Given the description of an element on the screen output the (x, y) to click on. 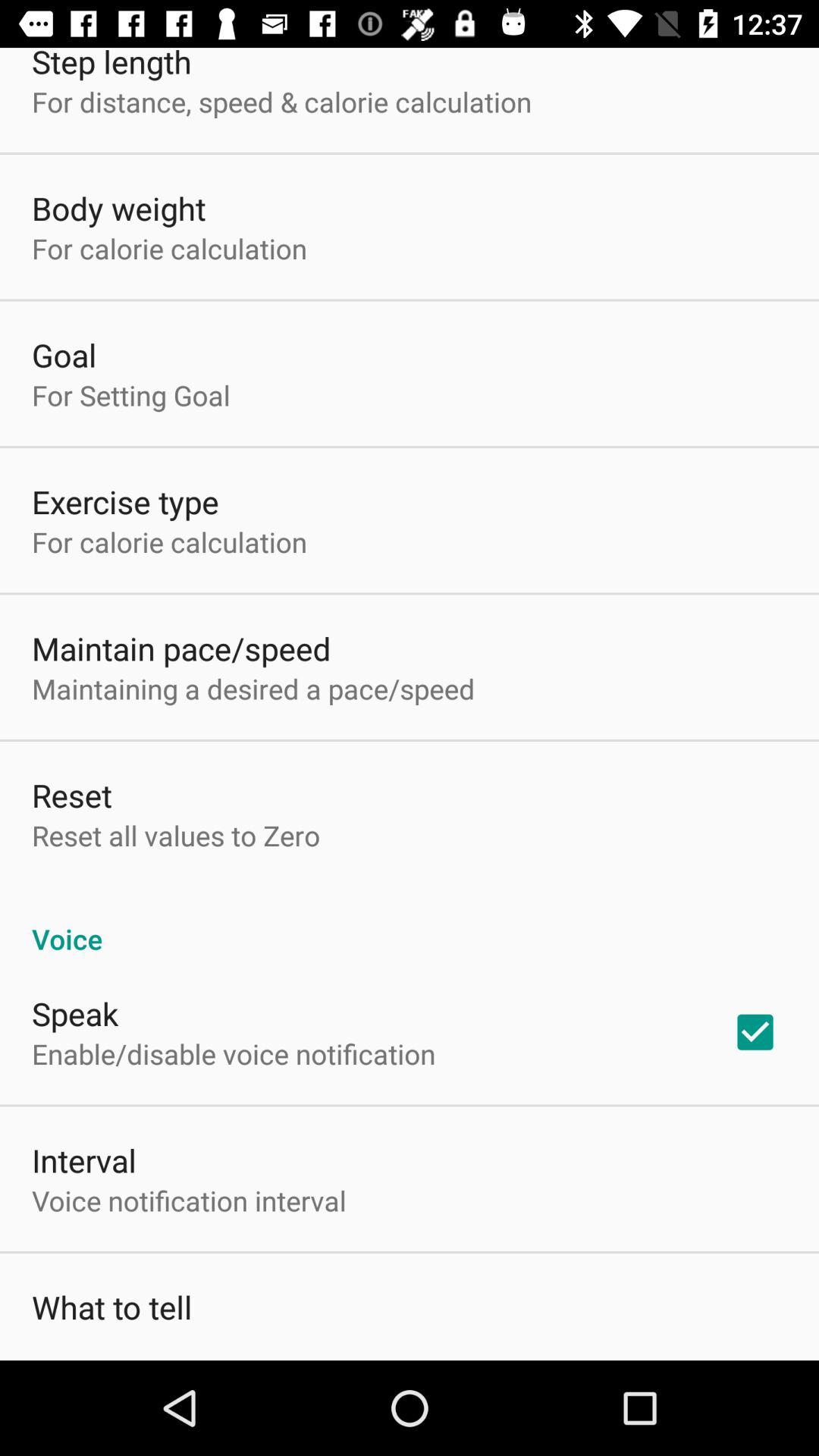
turn on the app above voice app (175, 835)
